Given the description of an element on the screen output the (x, y) to click on. 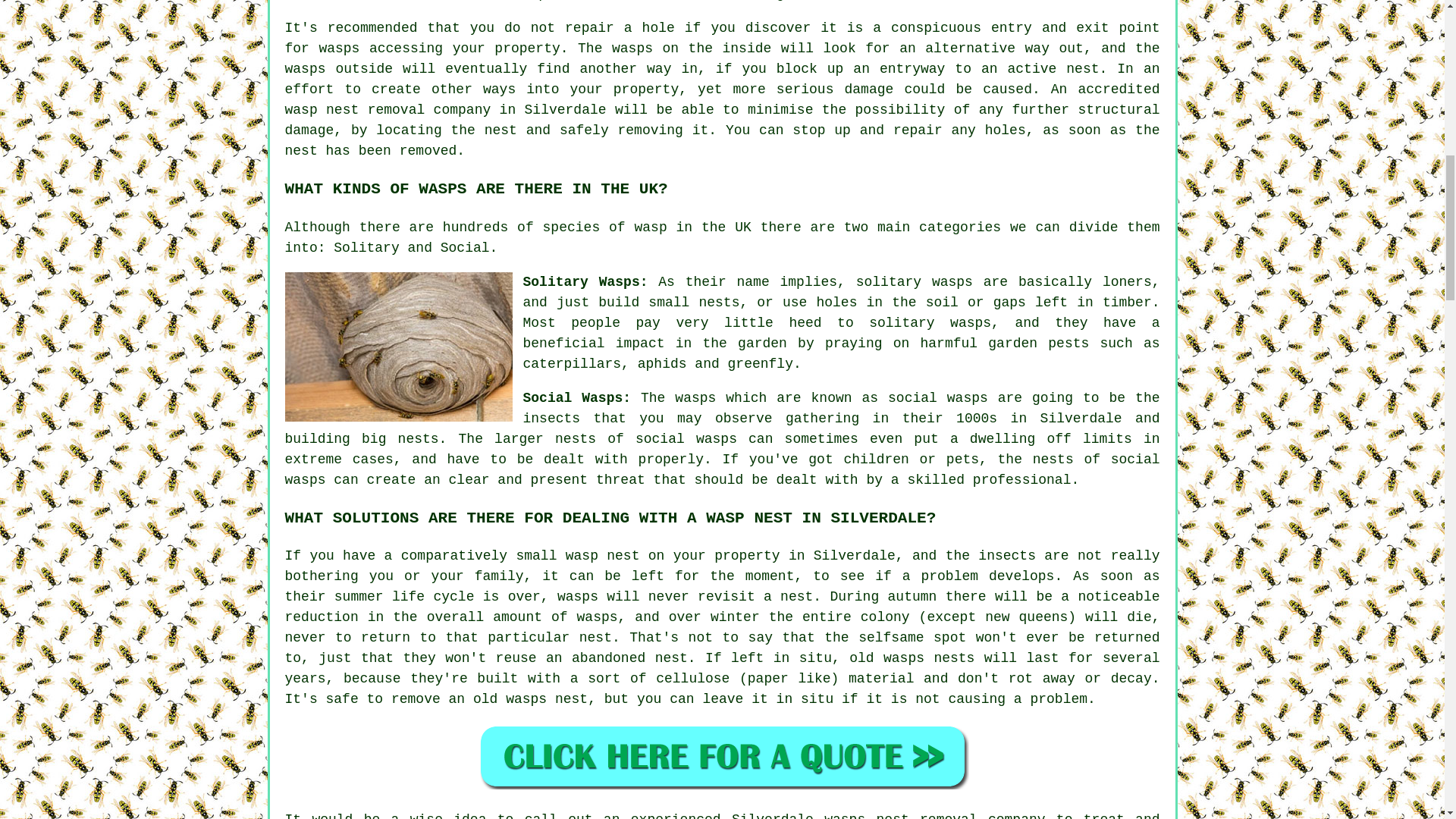
Wasps Nest Removal Quotes in Silverdale Staffordshire (722, 756)
